Given the description of an element on the screen output the (x, y) to click on. 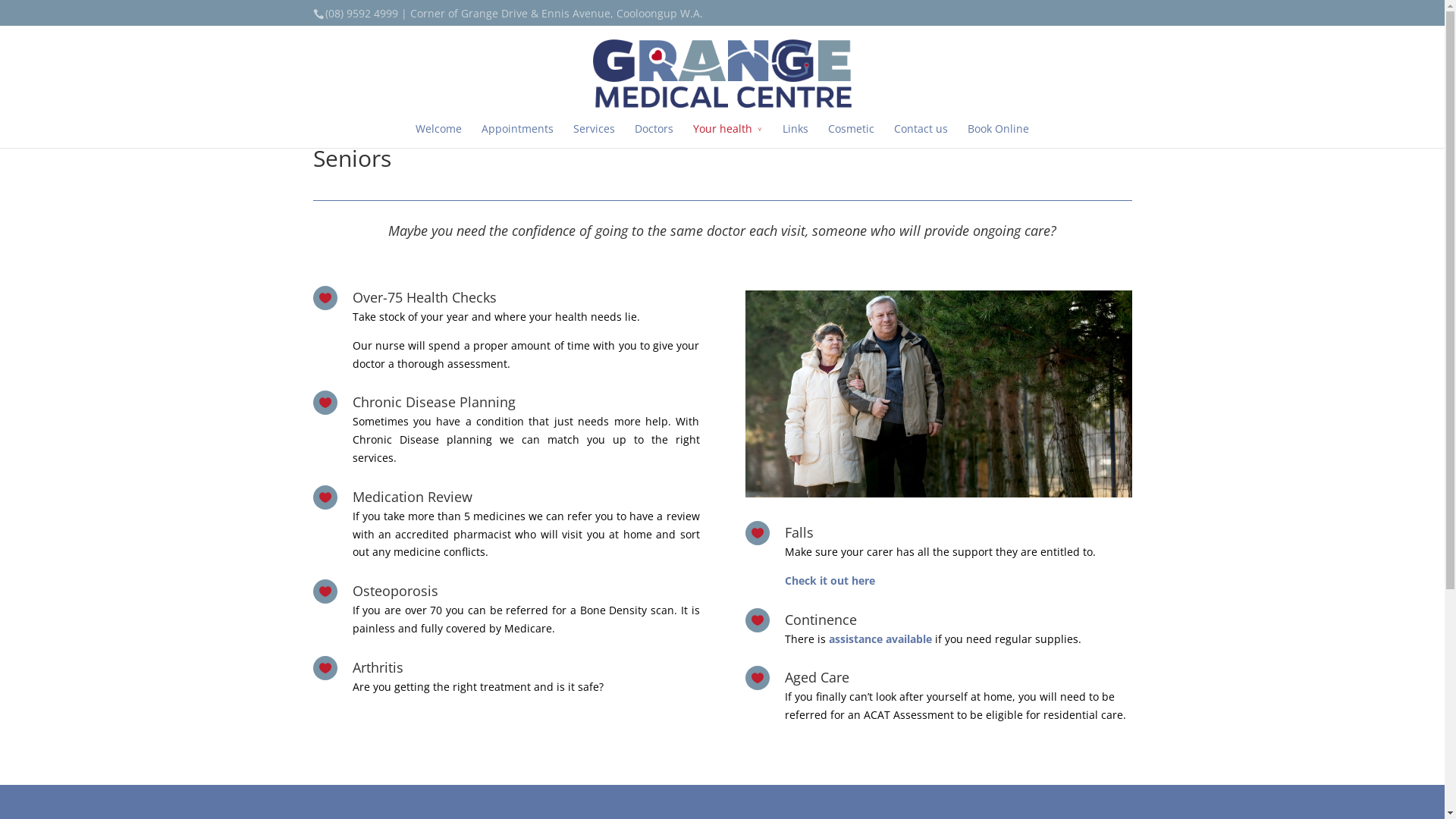
Appointments Element type: text (517, 133)
Check it out here Element type: text (829, 580)
Cosmetic Element type: text (851, 133)
Welcome Element type: text (438, 133)
Services Element type: text (594, 133)
Book Online Element type: text (998, 133)
Your health Element type: text (727, 133)
Contact us Element type: text (920, 133)
Doctors Element type: text (653, 133)
assistance available Element type: text (879, 638)
Links Element type: text (795, 133)
